Given the description of an element on the screen output the (x, y) to click on. 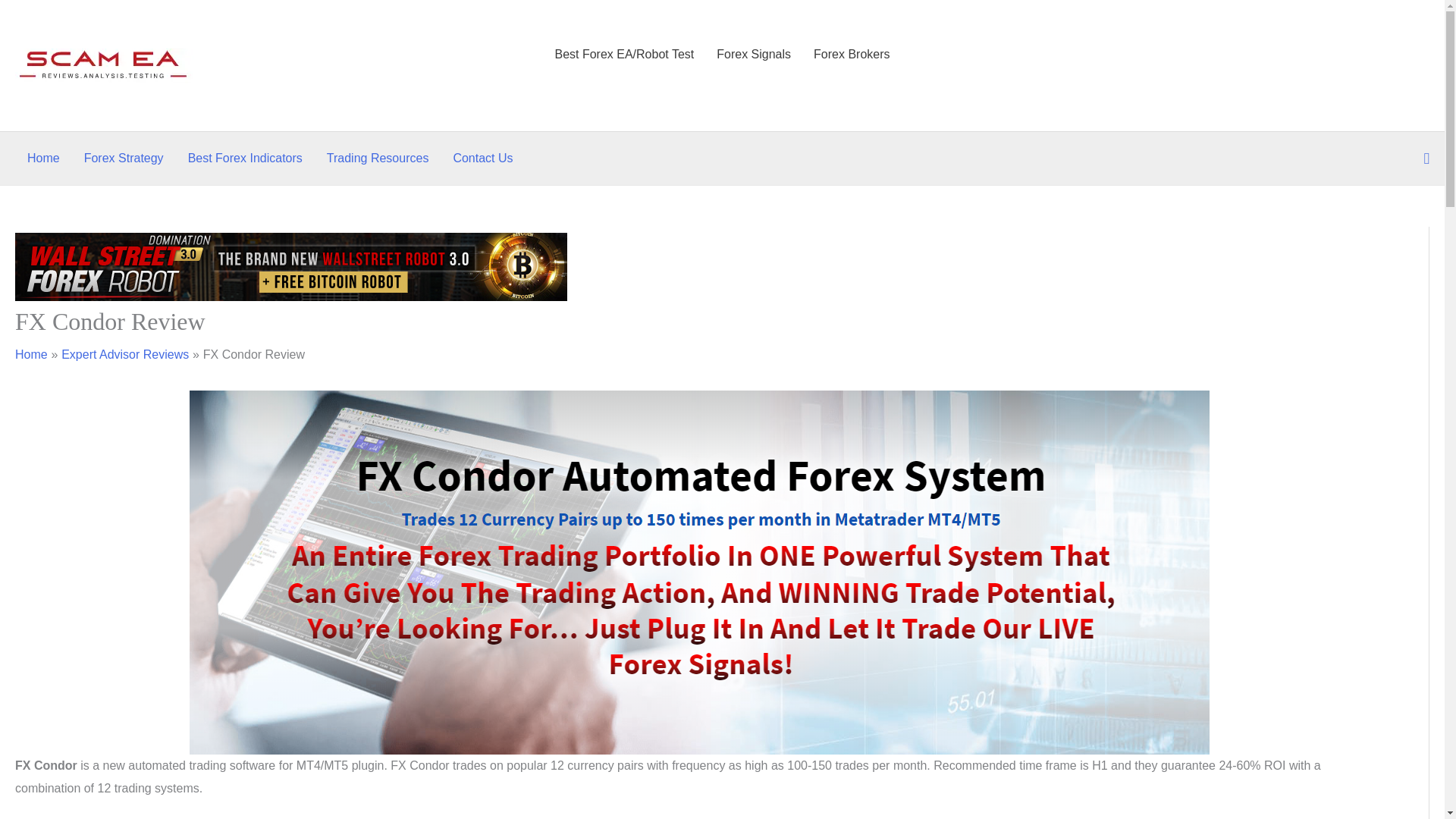
Forex Strategy (123, 158)
Best Forex Indicators (245, 158)
Home (31, 354)
Contact Us (482, 158)
Trading Resources (377, 158)
Expert Advisor Reviews (125, 354)
Home (42, 158)
